Given the description of an element on the screen output the (x, y) to click on. 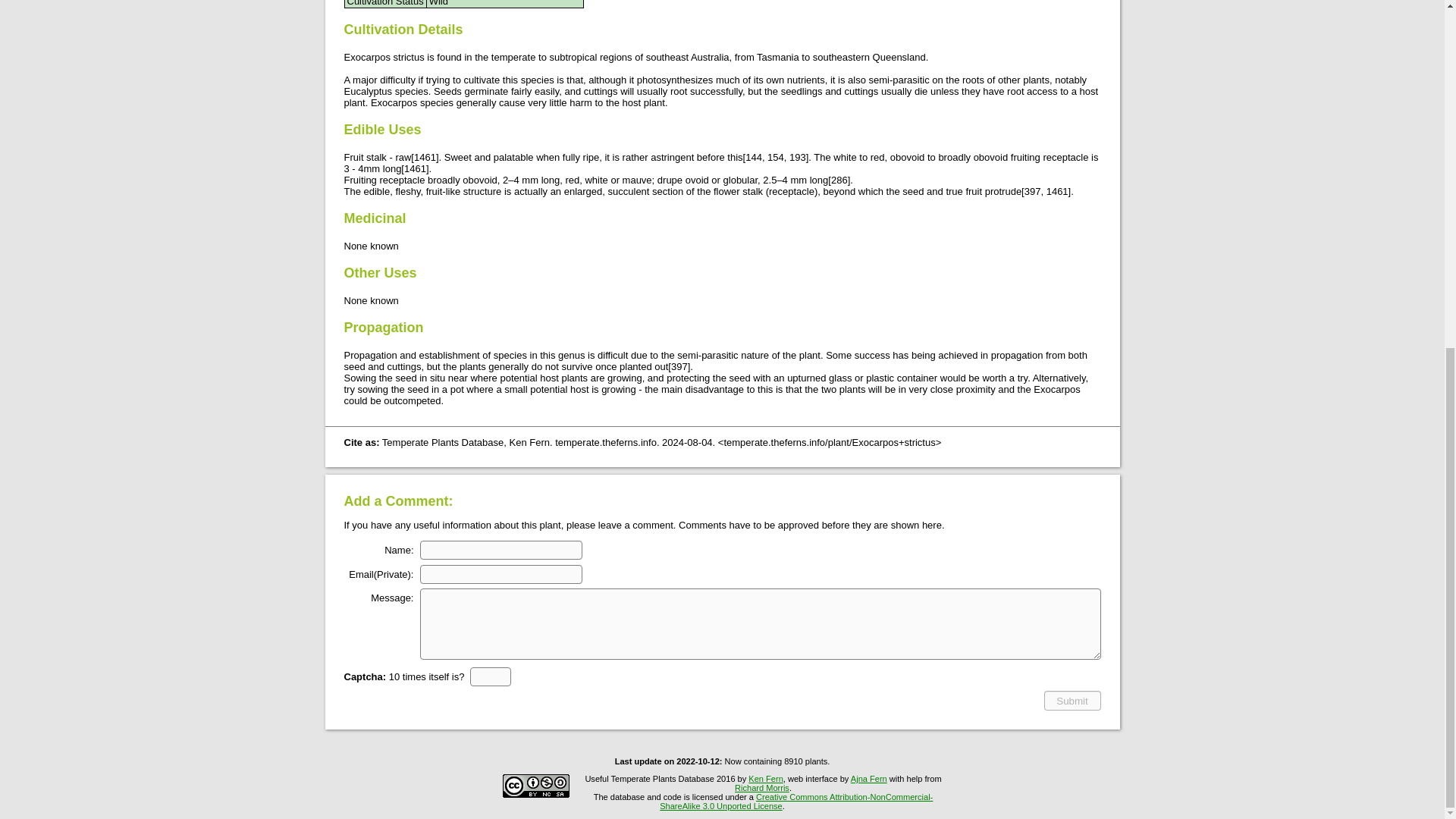
1461 (424, 156)
154 (775, 156)
144 (753, 156)
1461 (415, 168)
1461 (1057, 191)
193 (797, 156)
397 (679, 366)
Submit (1071, 700)
286 (839, 179)
Submit (1071, 700)
